Given the description of an element on the screen output the (x, y) to click on. 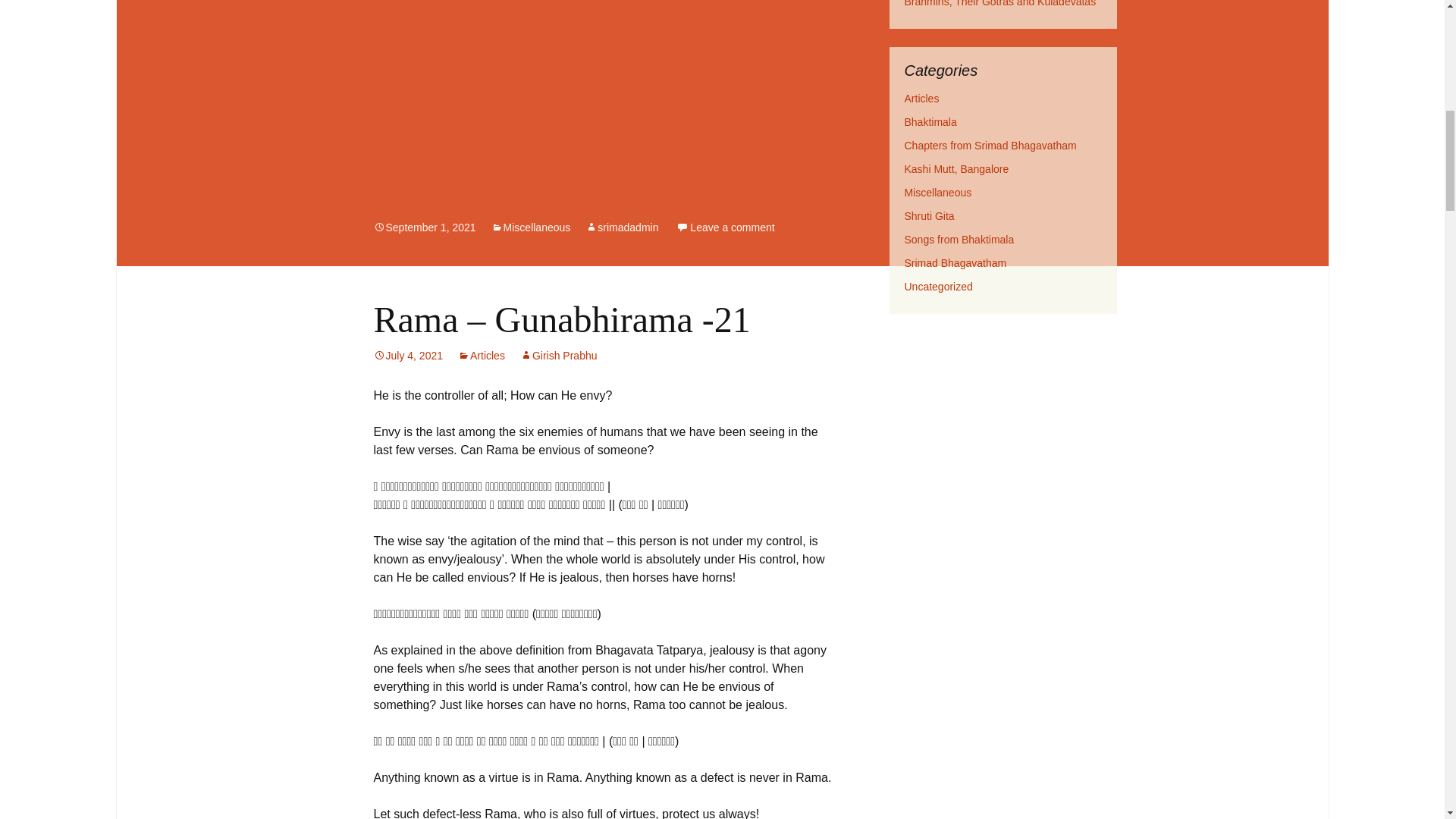
July 4, 2021 (407, 355)
Leave a comment (725, 227)
Articles (481, 355)
Girish Prabhu (557, 355)
Miscellaneous (531, 227)
September 1, 2021 (424, 227)
View all posts by srimadadmin (621, 227)
srimadadmin (621, 227)
View all posts by Girish Prabhu (557, 355)
